Given the description of an element on the screen output the (x, y) to click on. 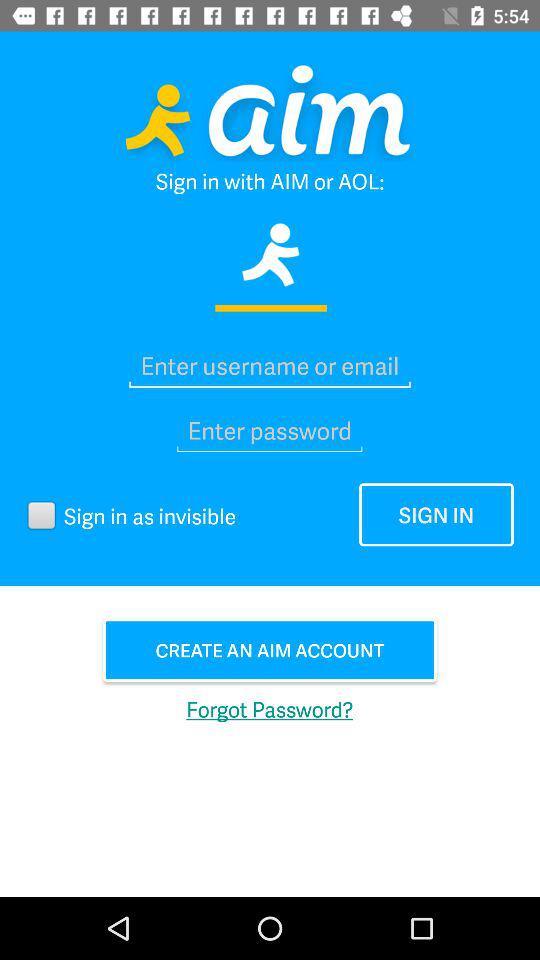
tap create an aim item (269, 649)
